Given the description of an element on the screen output the (x, y) to click on. 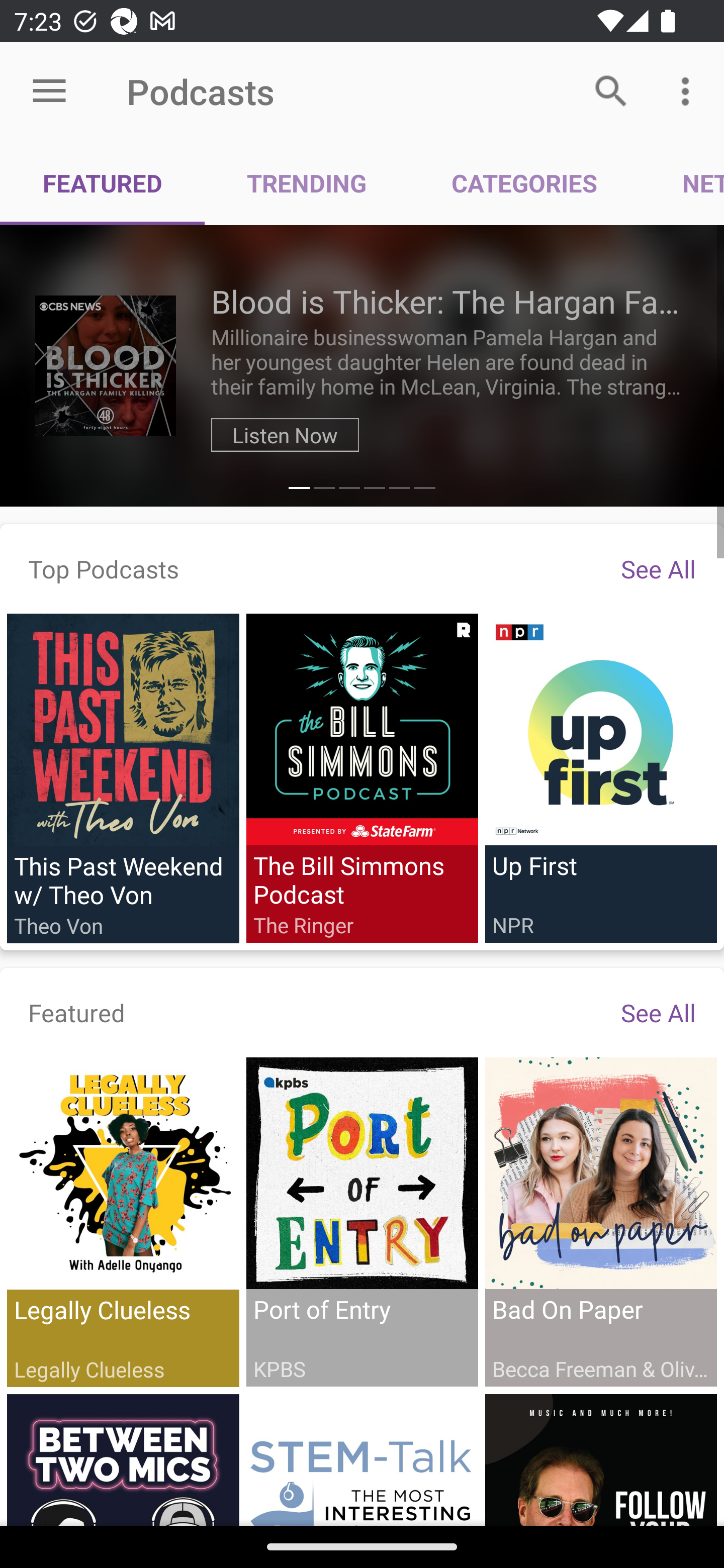
Open menu (49, 91)
Search (611, 90)
More options (688, 90)
FEATURED (102, 183)
TRENDING (306, 183)
CATEGORIES (524, 183)
NETWORKS (681, 183)
Top Podcasts (103, 567)
See All (658, 567)
This Past Weekend w/ Theo Von Theo Von (123, 778)
The Bill Simmons Podcast The Ringer (361, 777)
Up First NPR (600, 777)
Featured (76, 1011)
See All (658, 1011)
Legally Clueless (123, 1221)
Port of Entry KPBS (361, 1221)
Bad On Paper Becca Freeman & Olivia Muenter (600, 1221)
